Given the description of an element on the screen output the (x, y) to click on. 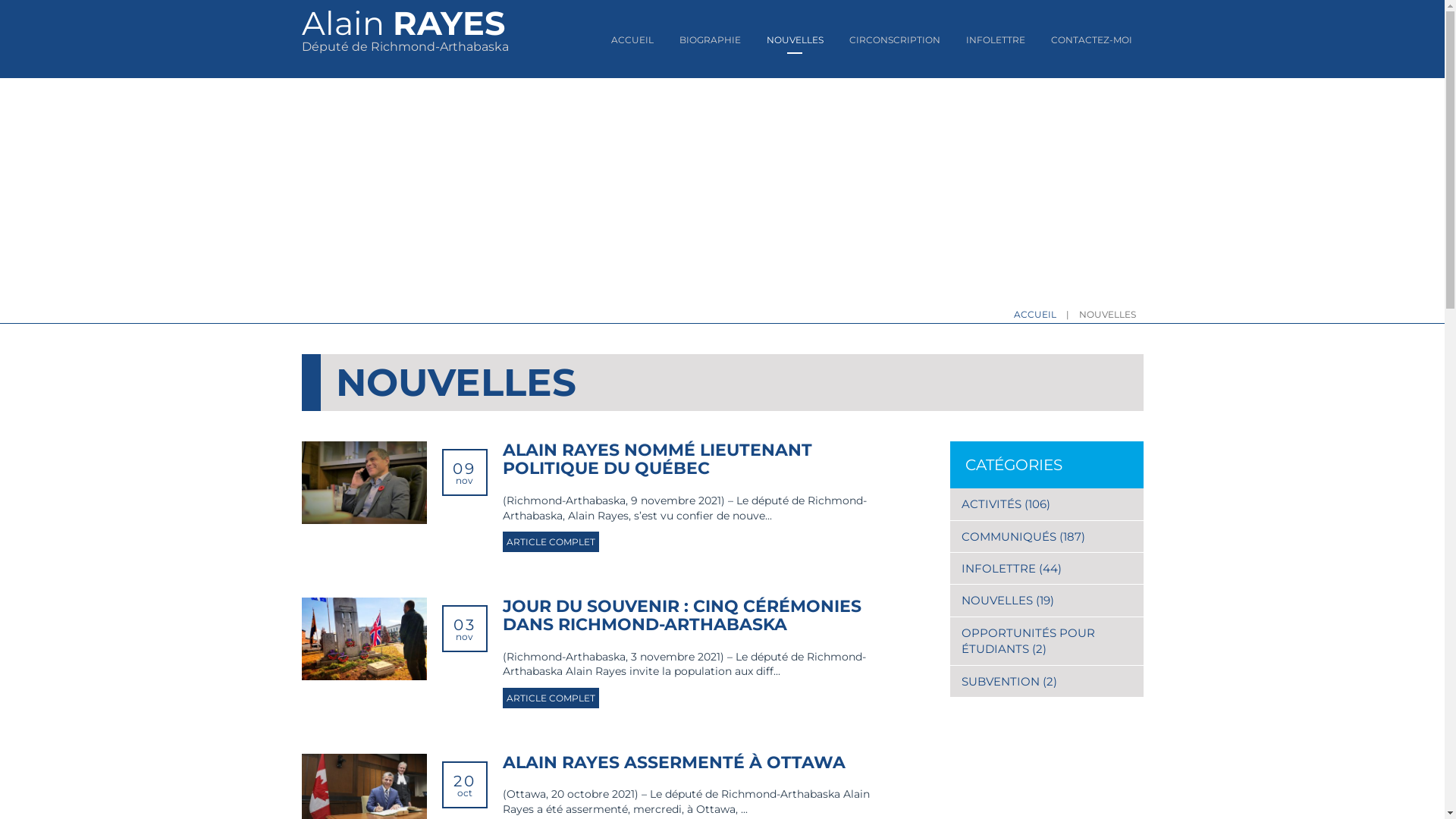
INFOLETTRE Element type: text (995, 39)
ARTICLE COMPLET Element type: text (550, 697)
CONTACTEZ-MOI Element type: text (1091, 39)
SUBVENTION (2) Element type: text (1045, 680)
INFOLETTRE (44) Element type: text (1045, 567)
CIRCONSCRIPTION Element type: text (894, 39)
NOUVELLES Element type: text (793, 39)
ACCUEIL Element type: text (1035, 314)
ARTICLE COMPLET Element type: text (550, 541)
ACCUEIL Element type: text (632, 39)
BIOGRAPHIE Element type: text (709, 39)
NOUVELLES (19) Element type: text (1045, 599)
